Given the description of an element on the screen output the (x, y) to click on. 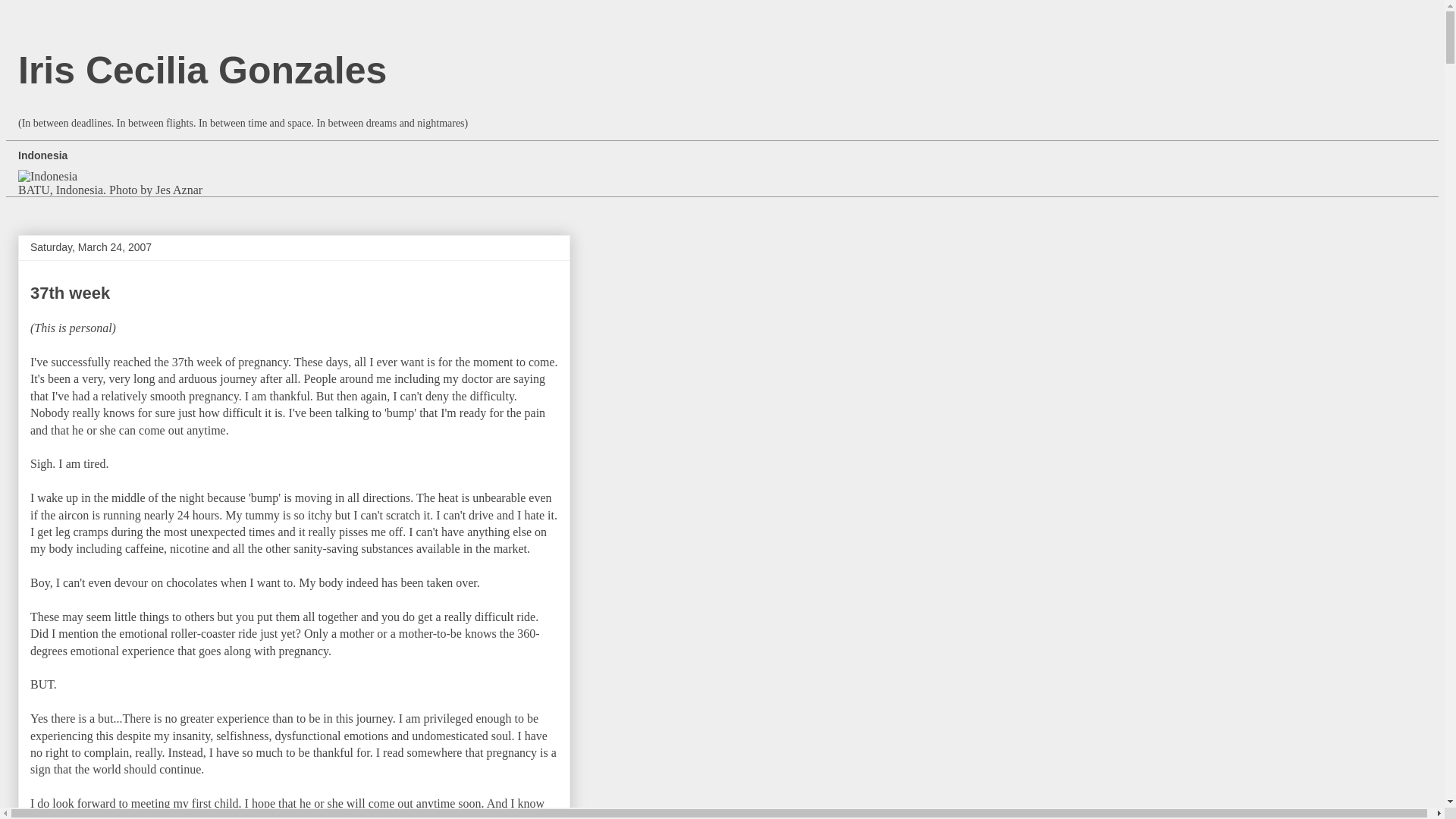
Iris Cecilia Gonzales (202, 69)
